Given the description of an element on the screen output the (x, y) to click on. 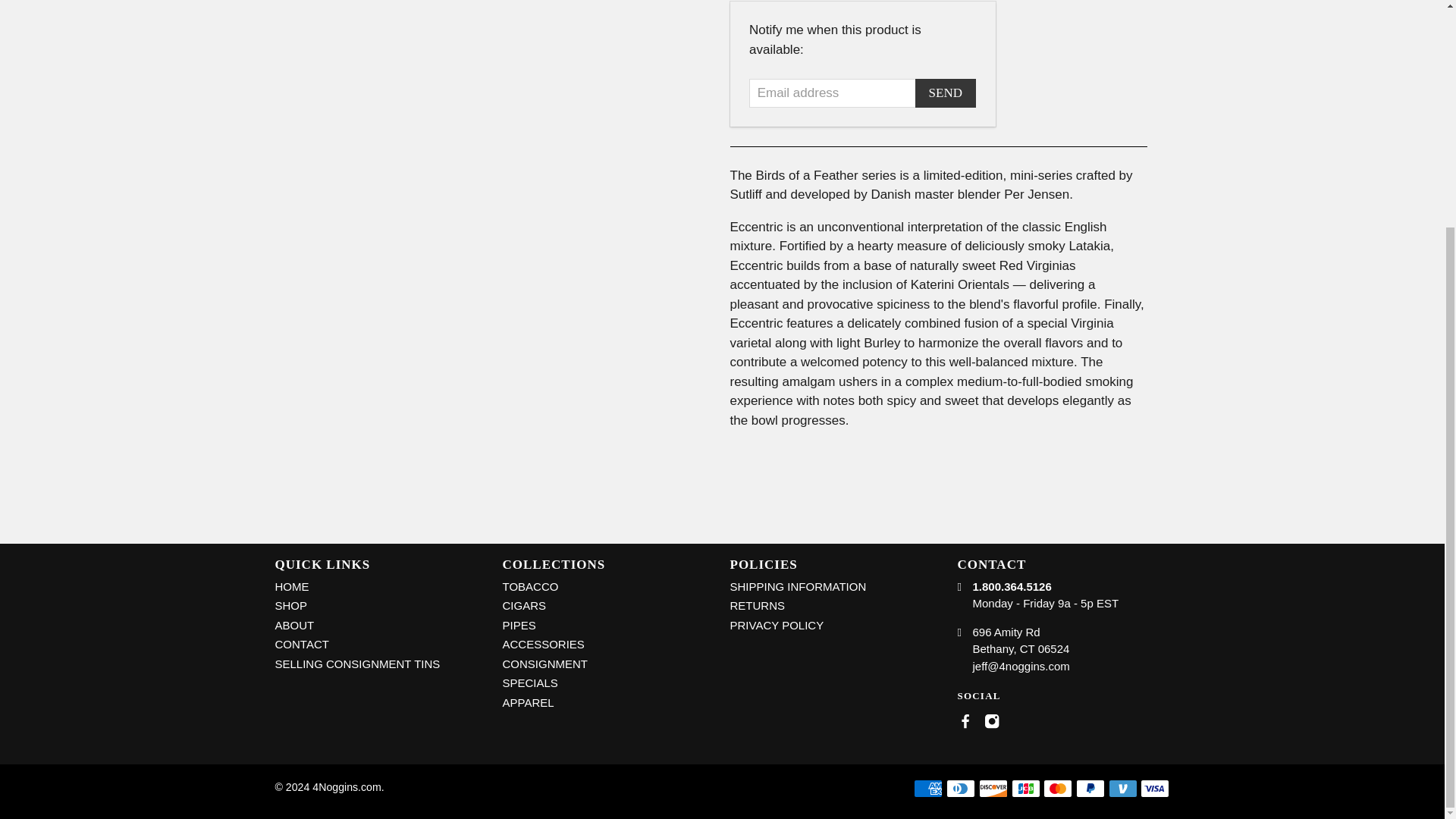
Venmo (1122, 788)
4Noggins.com on Instagram (991, 725)
PayPal (1090, 788)
JCB (1026, 788)
Visa (1154, 788)
Mastercard (1057, 788)
Diners Club (960, 788)
4Noggins.com on Facebook (964, 725)
Send (945, 92)
Contact Us (1020, 666)
American Express (928, 788)
Discover (992, 788)
